Given the description of an element on the screen output the (x, y) to click on. 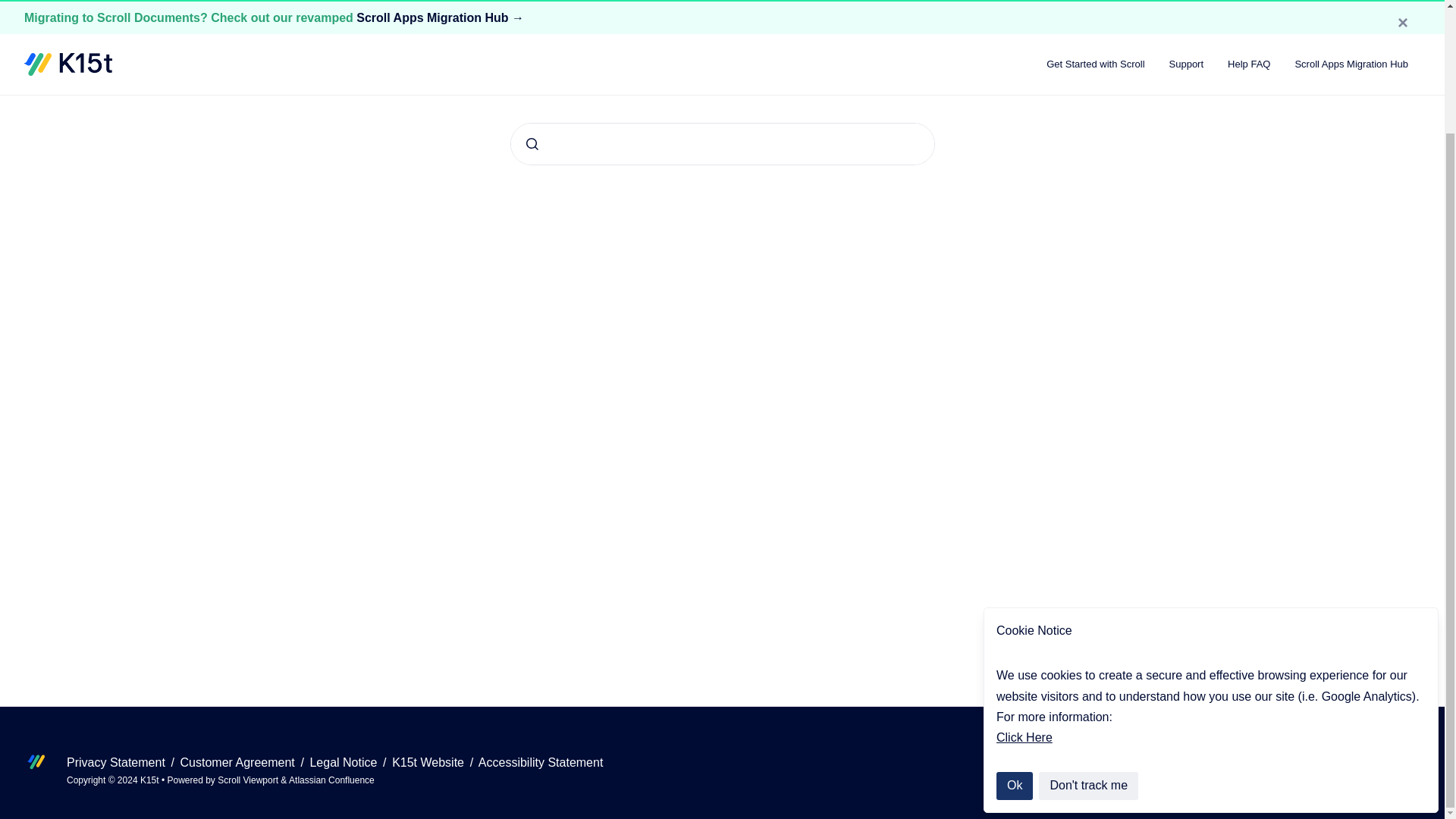
Scroll Viewport (248, 779)
Don't track me (1088, 637)
Atlassian Confluence (331, 779)
Click Here (1023, 589)
Accessibility Statement (541, 762)
Ok (1013, 637)
Home page (722, 88)
Legal Notice (344, 762)
K15t Website (429, 762)
Customer Agreement (239, 762)
